Given the description of an element on the screen output the (x, y) to click on. 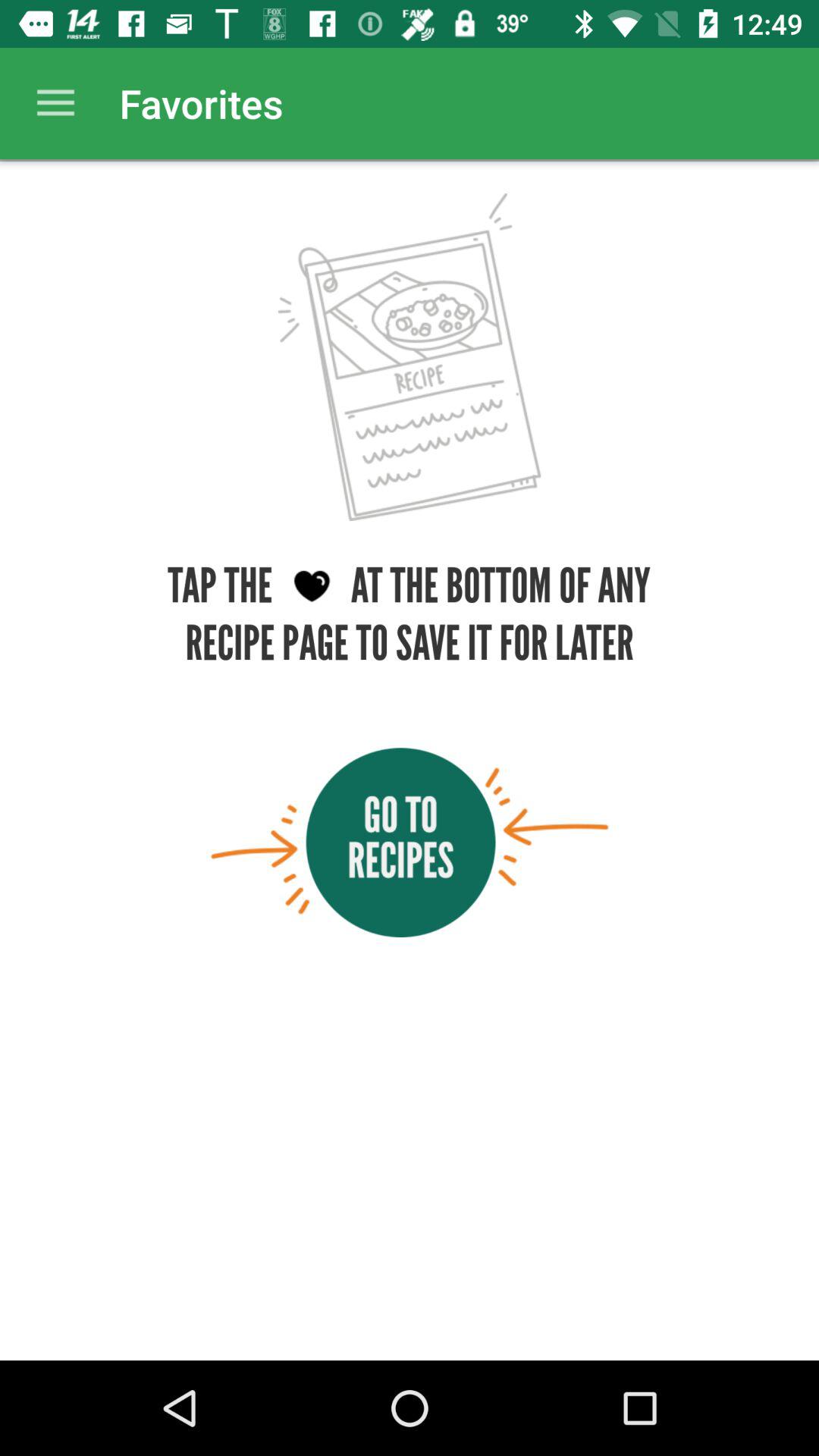
choose item next to the favorites app (55, 103)
